Given the description of an element on the screen output the (x, y) to click on. 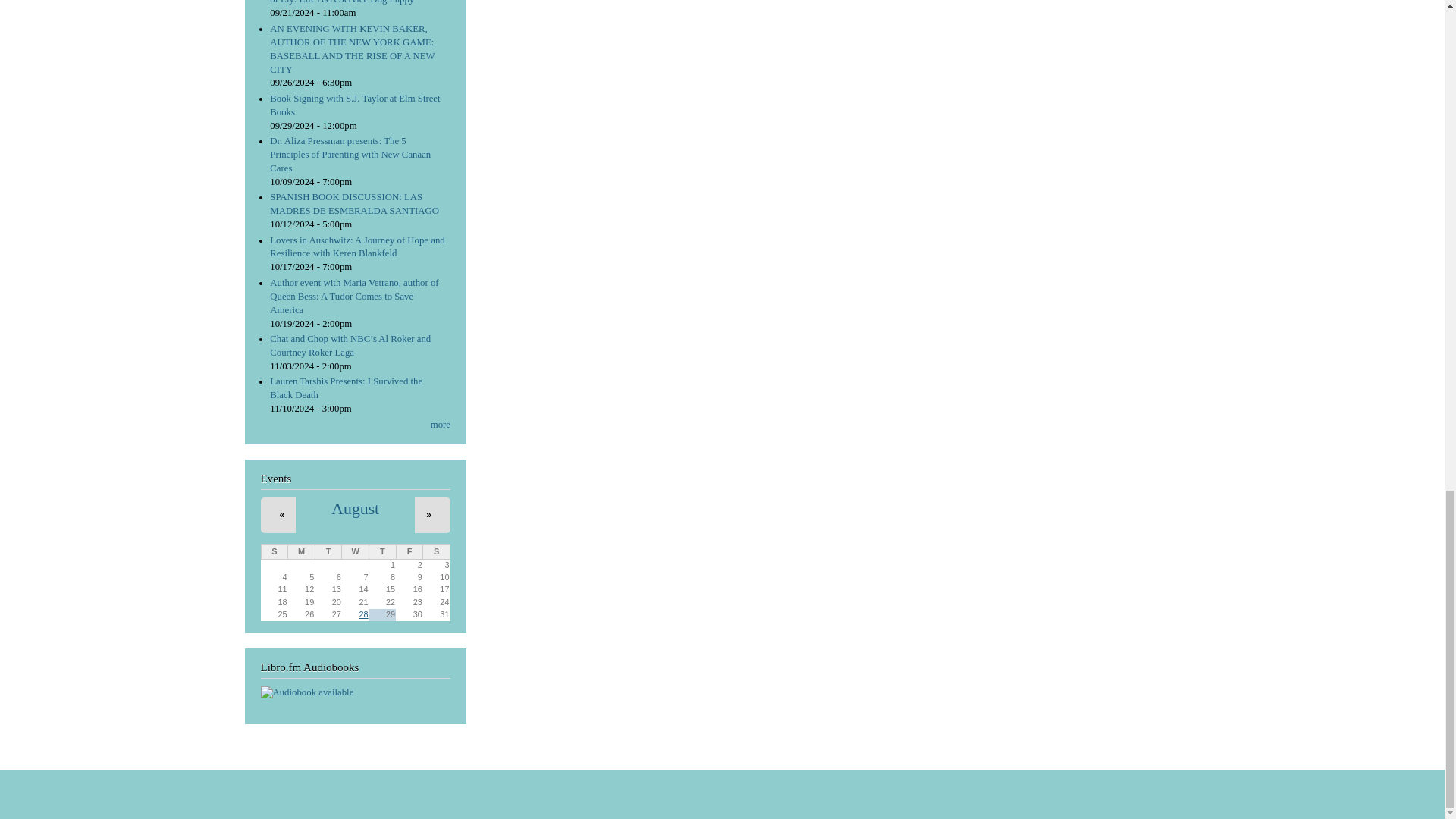
View full page month (354, 508)
Book Signing with S.J. Taylor at Elm Street Books (354, 105)
SPANISH BOOK DISCUSSION: LAS MADRES DE ESMERALDA SANTIAGO (354, 203)
Navigate to next month (428, 515)
Navigate to previous month (282, 515)
